Given the description of an element on the screen output the (x, y) to click on. 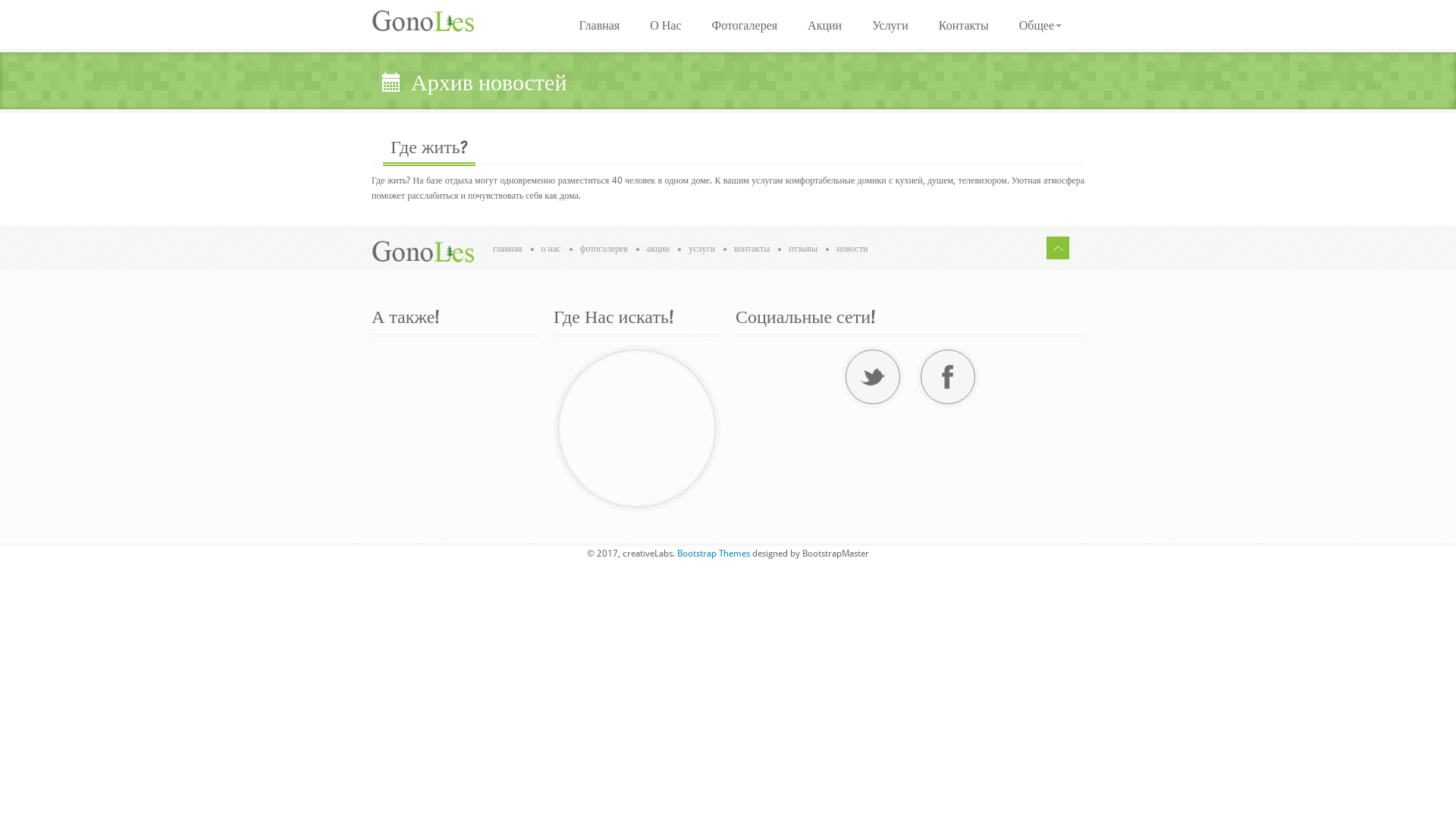
Bootstrap Themes Element type: text (713, 553)
